Given the description of an element on the screen output the (x, y) to click on. 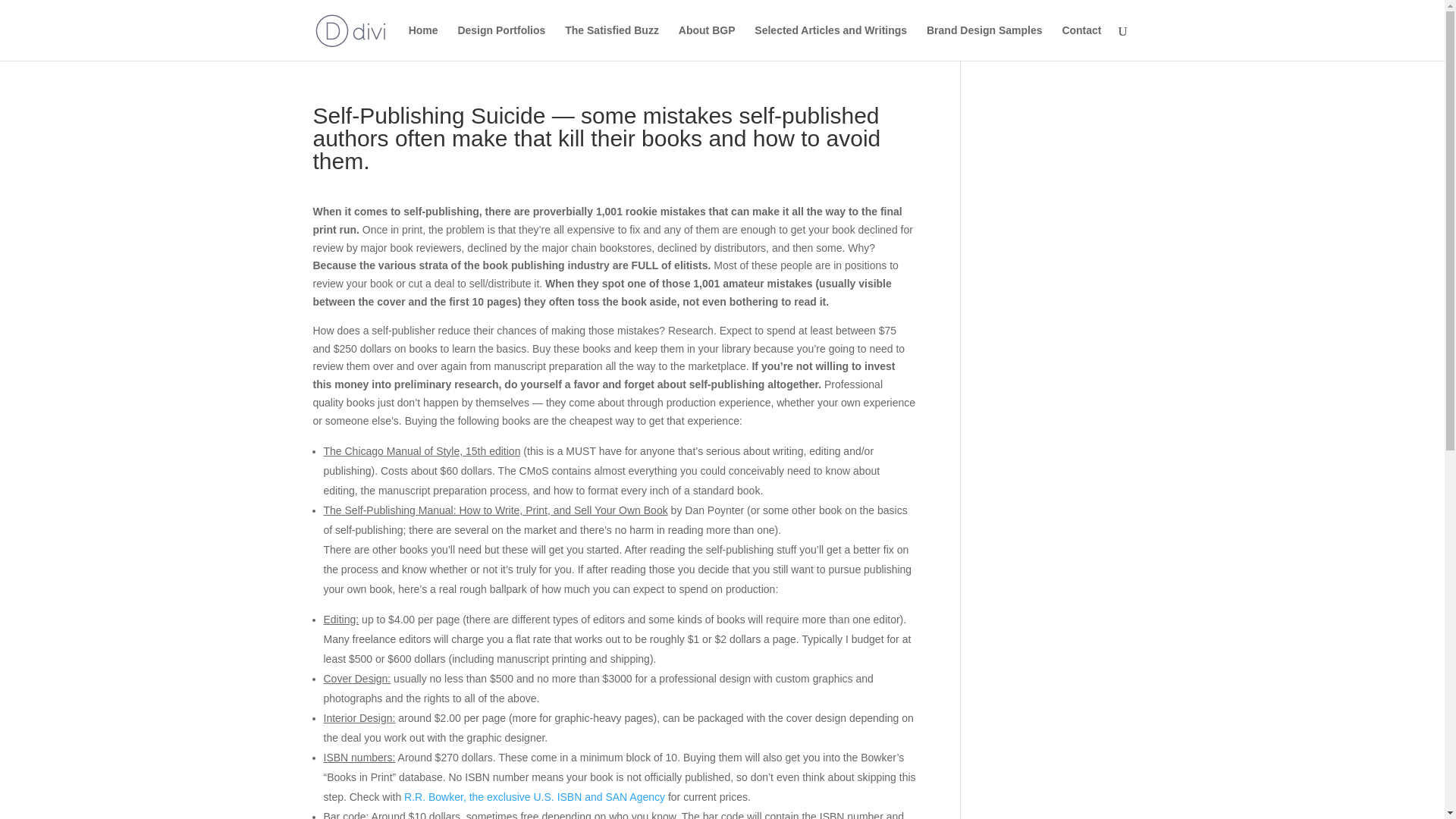
The Satisfied Buzz (611, 42)
Contact (1080, 42)
About BGP (706, 42)
Brand Design Samples (984, 42)
Design Portfolios (500, 42)
Selected Articles and Writings (830, 42)
R.R. Bowker, the exclusive U.S. ISBN and SAN Agency (534, 797)
